Given the description of an element on the screen output the (x, y) to click on. 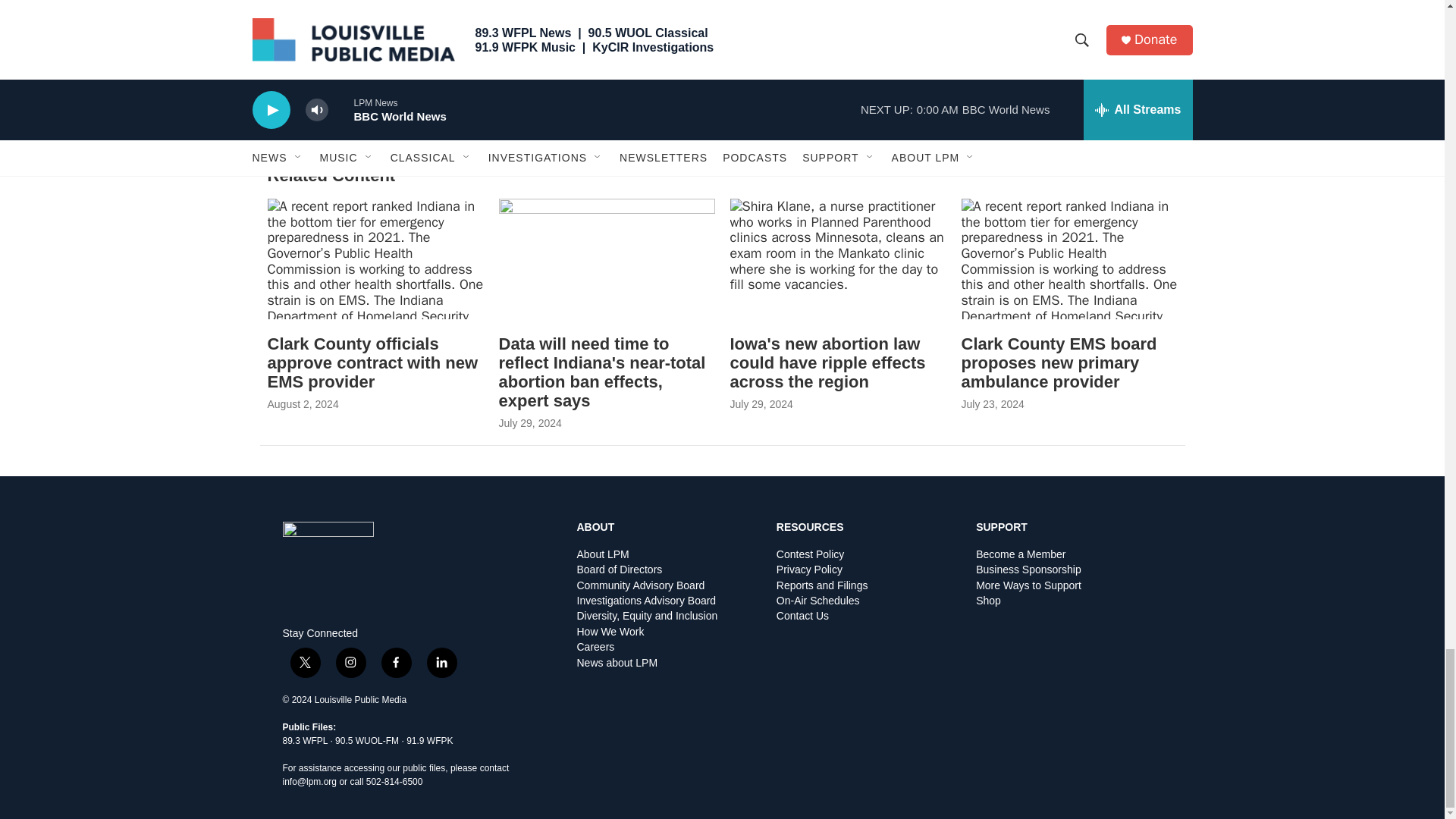
20 (768, 14)
